Given the description of an element on the screen output the (x, y) to click on. 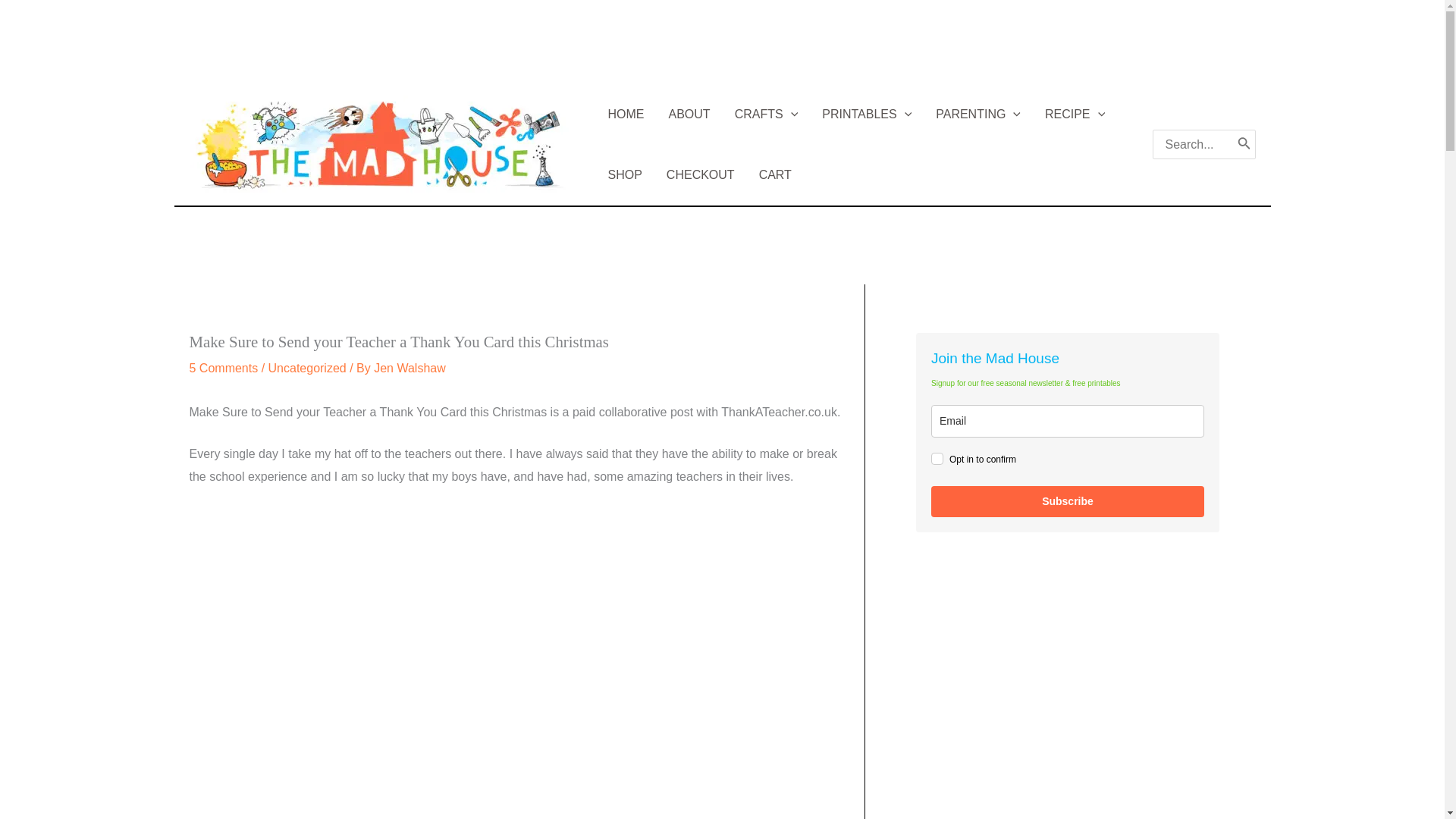
ABOUT (689, 113)
HOME (625, 113)
RECIPE (1074, 113)
PRINTABLES (866, 113)
CRAFTS (766, 113)
View all posts by Jen Walshaw (409, 367)
PARENTING (977, 113)
